Given the description of an element on the screen output the (x, y) to click on. 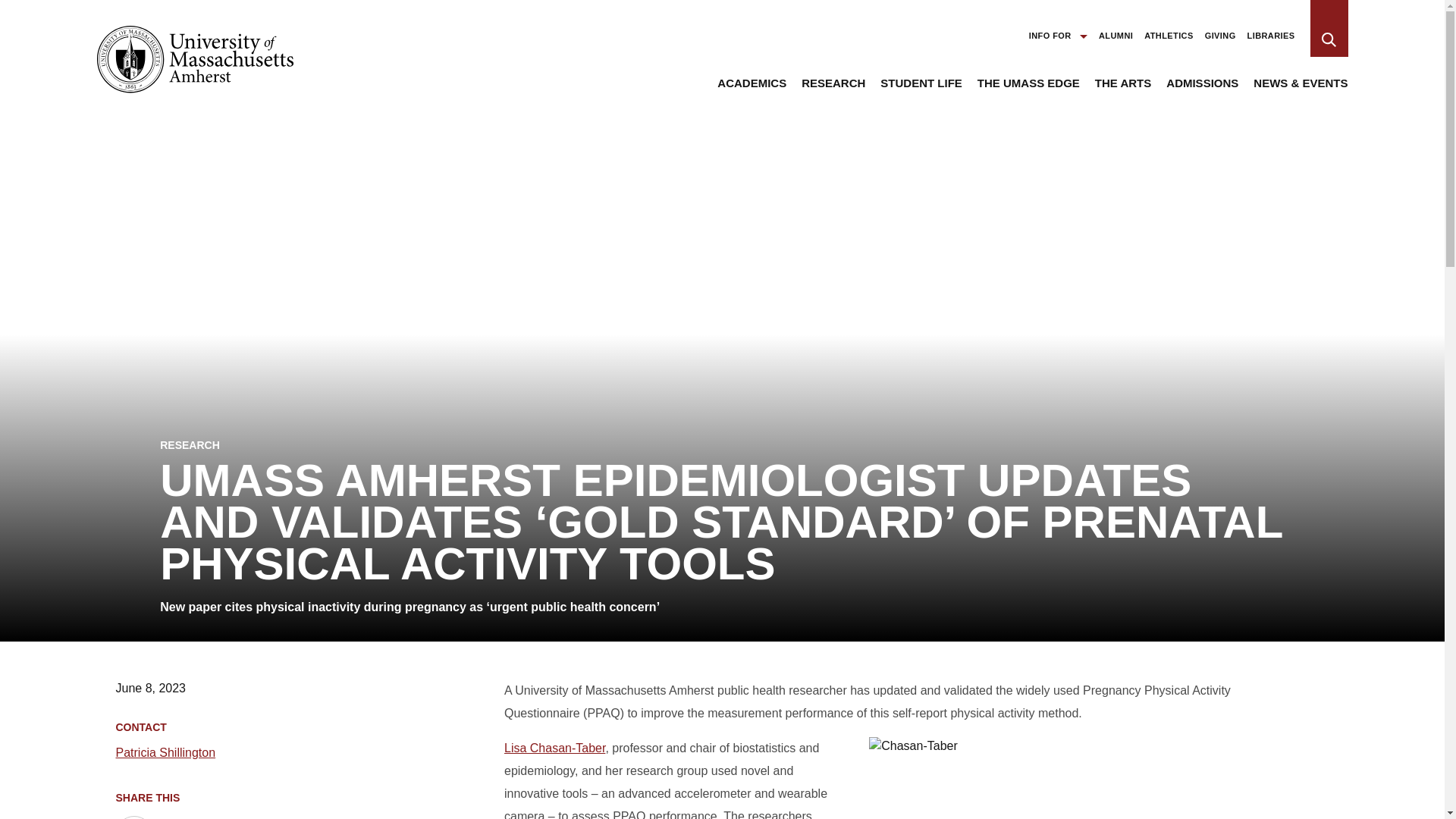
Giving to UMass Amherst (1220, 40)
RESEARCH (833, 90)
INFO FOR (1058, 40)
ACADEMICS (751, 90)
ATHLETICS (1168, 40)
ALUMNI (1115, 40)
LIBRARIES (1271, 40)
GIVING (1220, 40)
UMass Amherst Alumni Association (1115, 40)
UMass Amherst Athletics (1168, 40)
